Given the description of an element on the screen output the (x, y) to click on. 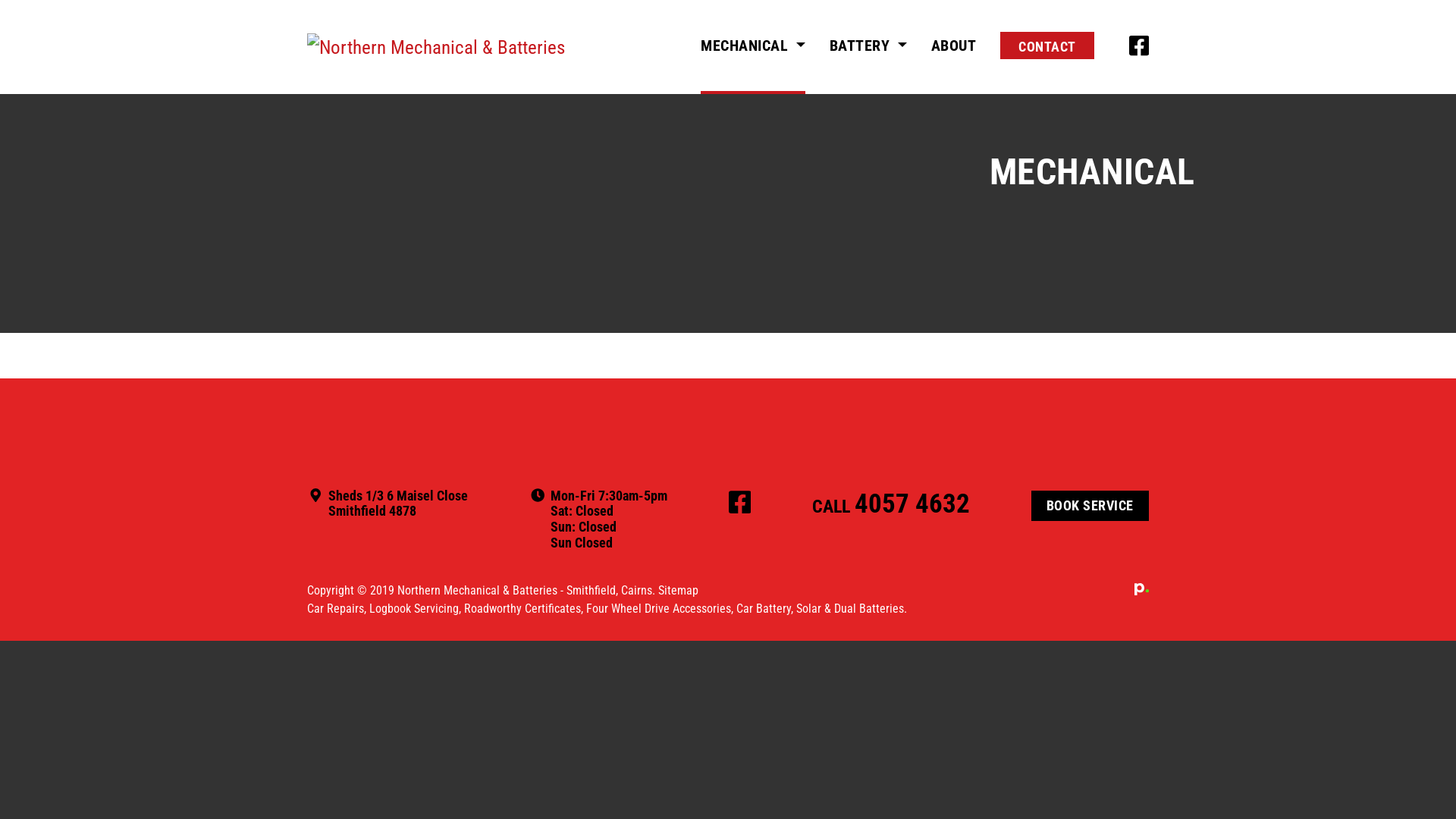
Sheds 1/3 6 Maisel Close
Smithfield 4878 Element type: text (397, 503)
BOOK SERVICE Element type: text (1089, 505)
BATTERY Element type: text (867, 47)
Sitemap Element type: text (678, 590)
ABOUT Element type: text (953, 47)
MECHANICAL Element type: text (752, 47)
CONTACT Element type: text (1047, 45)
4057 4632 Element type: text (911, 503)
